Given the description of an element on the screen output the (x, y) to click on. 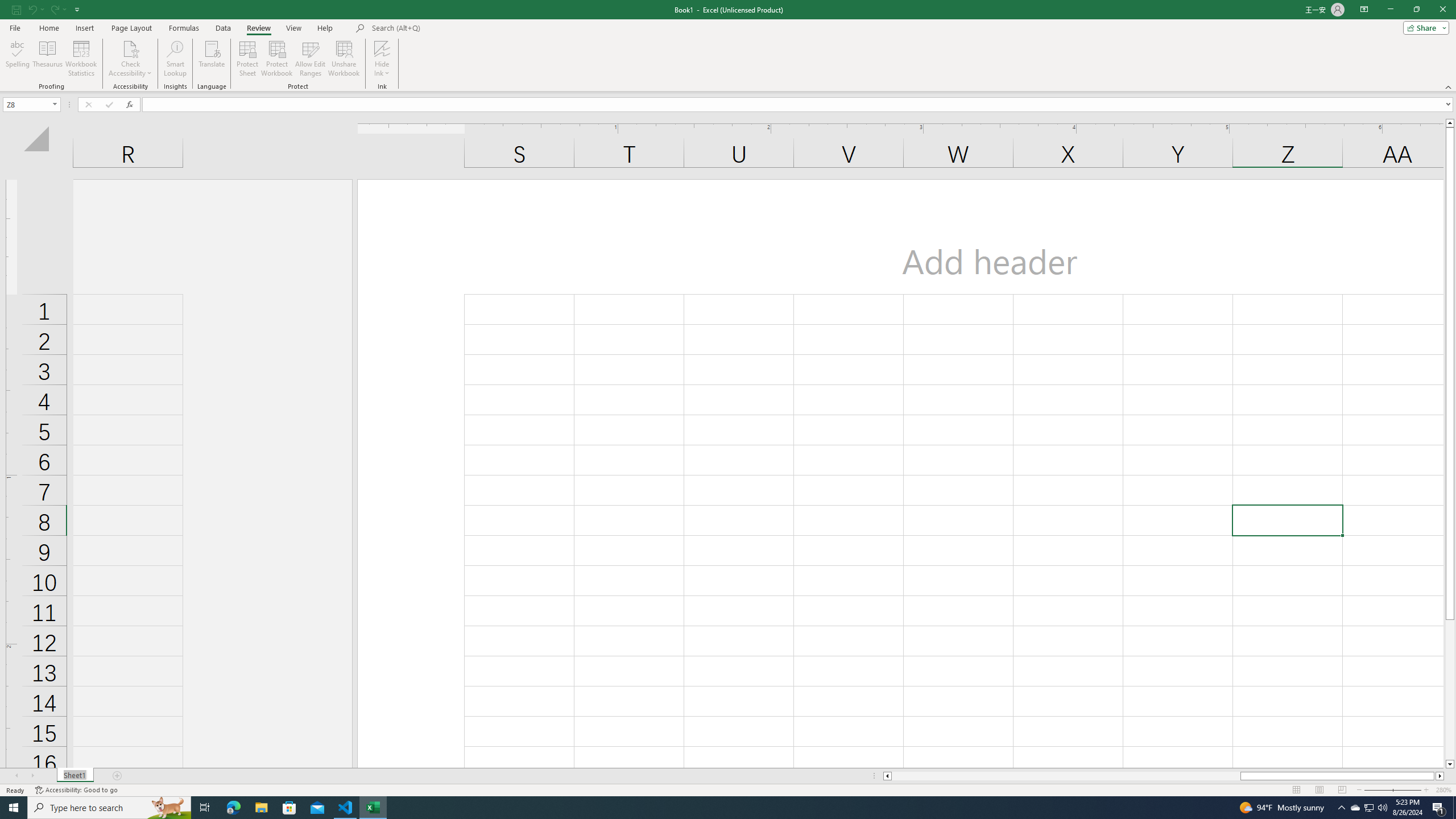
Workbook Statistics (81, 58)
Spelling... (17, 58)
